Given the description of an element on the screen output the (x, y) to click on. 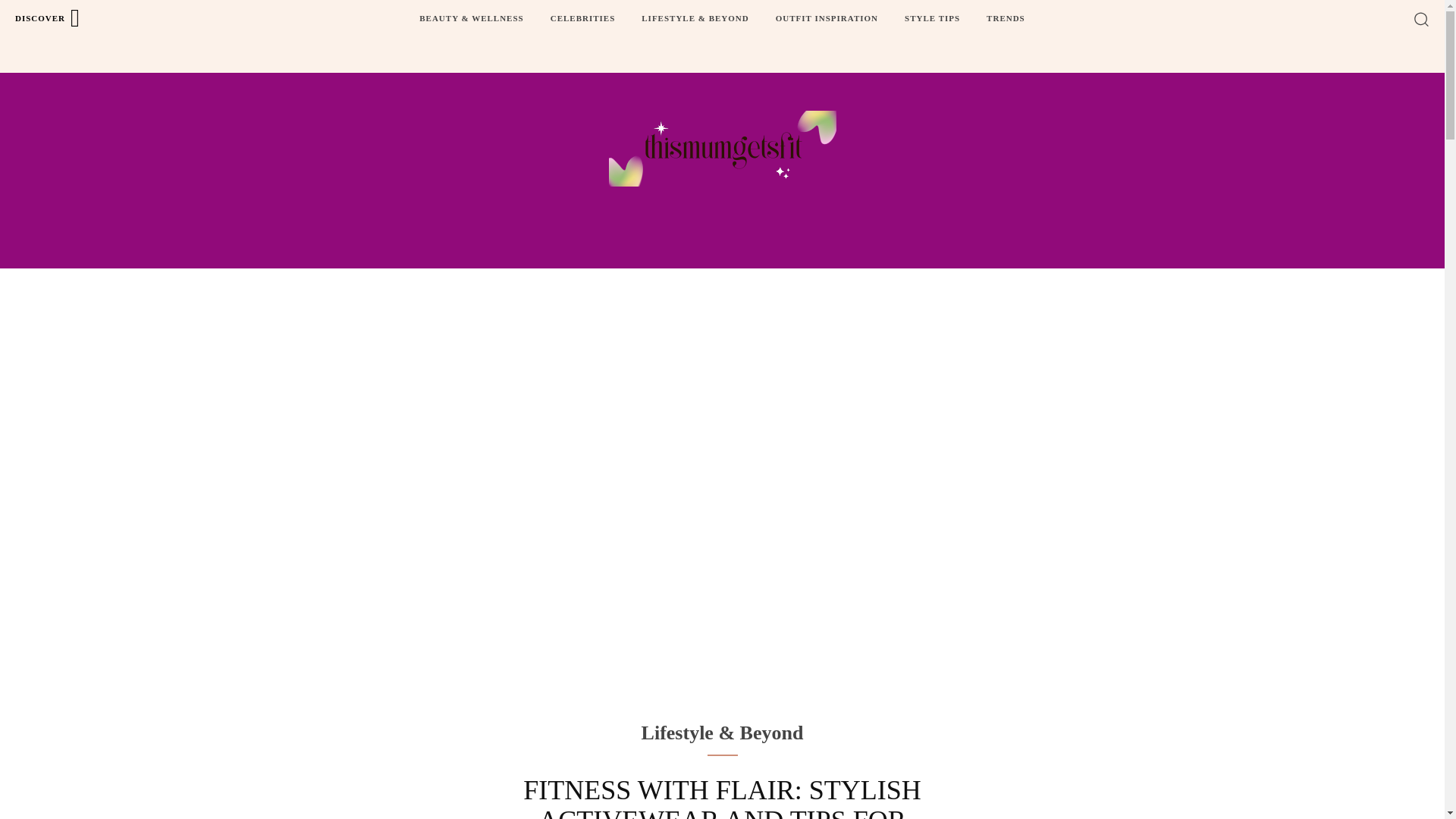
DISCOVER (47, 18)
STYLE TIPS (932, 18)
CELEBRITIES (583, 18)
TRENDS (1005, 18)
OUTFIT INSPIRATION (826, 18)
